Given the description of an element on the screen output the (x, y) to click on. 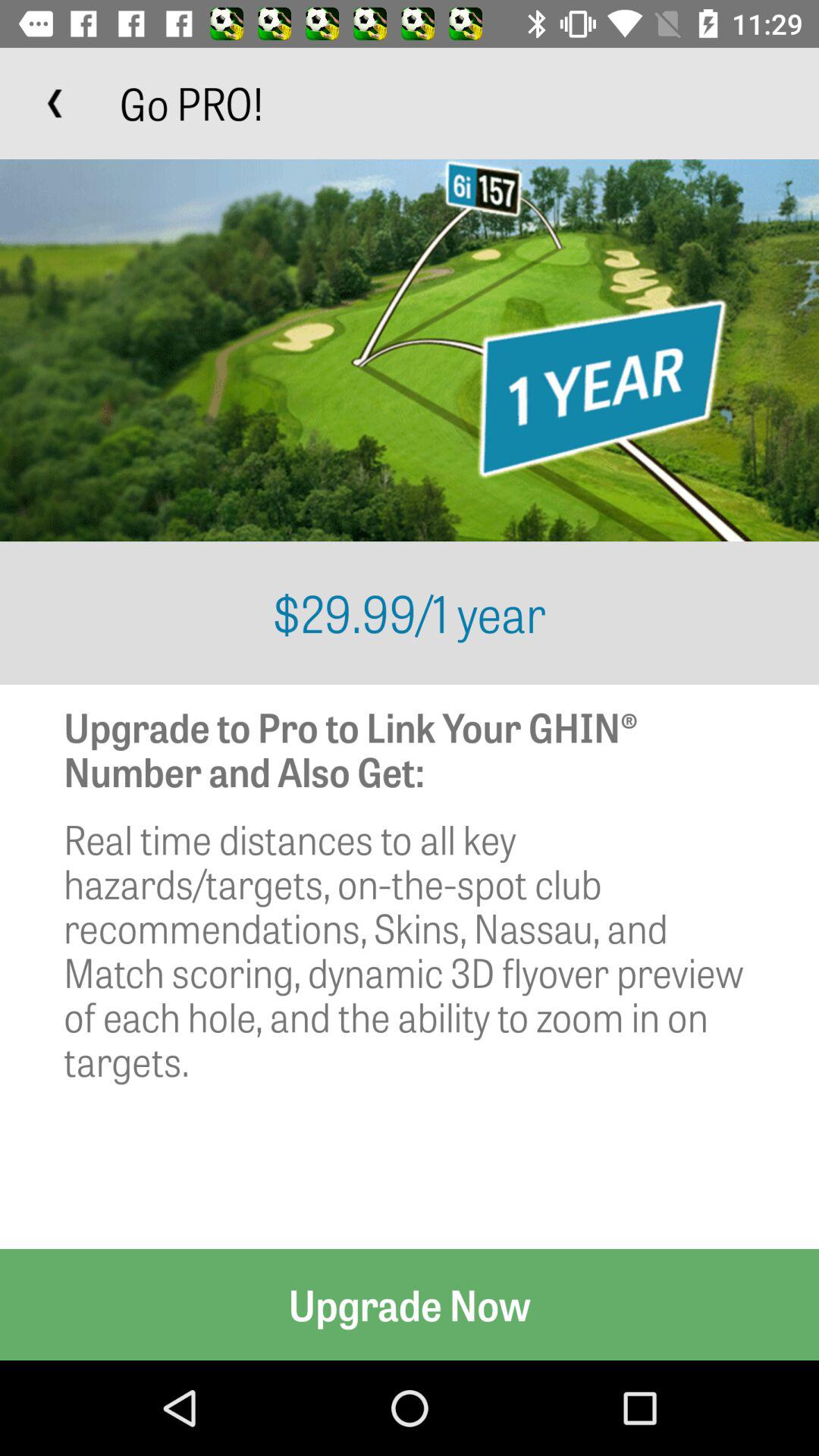
jump to the upgrade now icon (409, 1304)
